Given the description of an element on the screen output the (x, y) to click on. 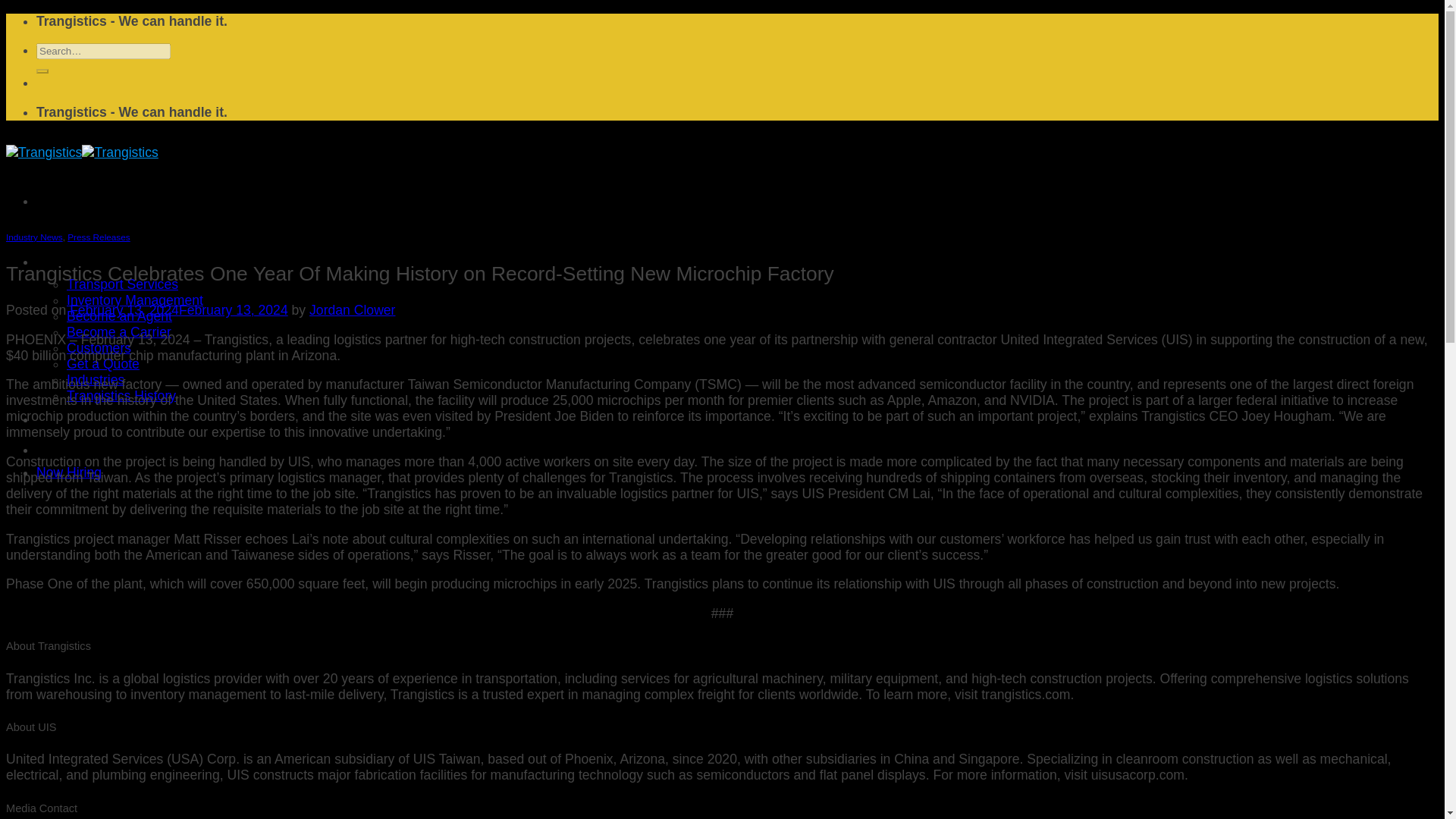
Become an Agent (118, 315)
Become a Carrier (118, 331)
Industry News (33, 236)
Jordan Clower (351, 309)
Stories (57, 449)
February 13, 2024February 13, 2024 (178, 309)
About (53, 261)
Get a Quote (102, 363)
Now Hiring (68, 472)
